Given the description of an element on the screen output the (x, y) to click on. 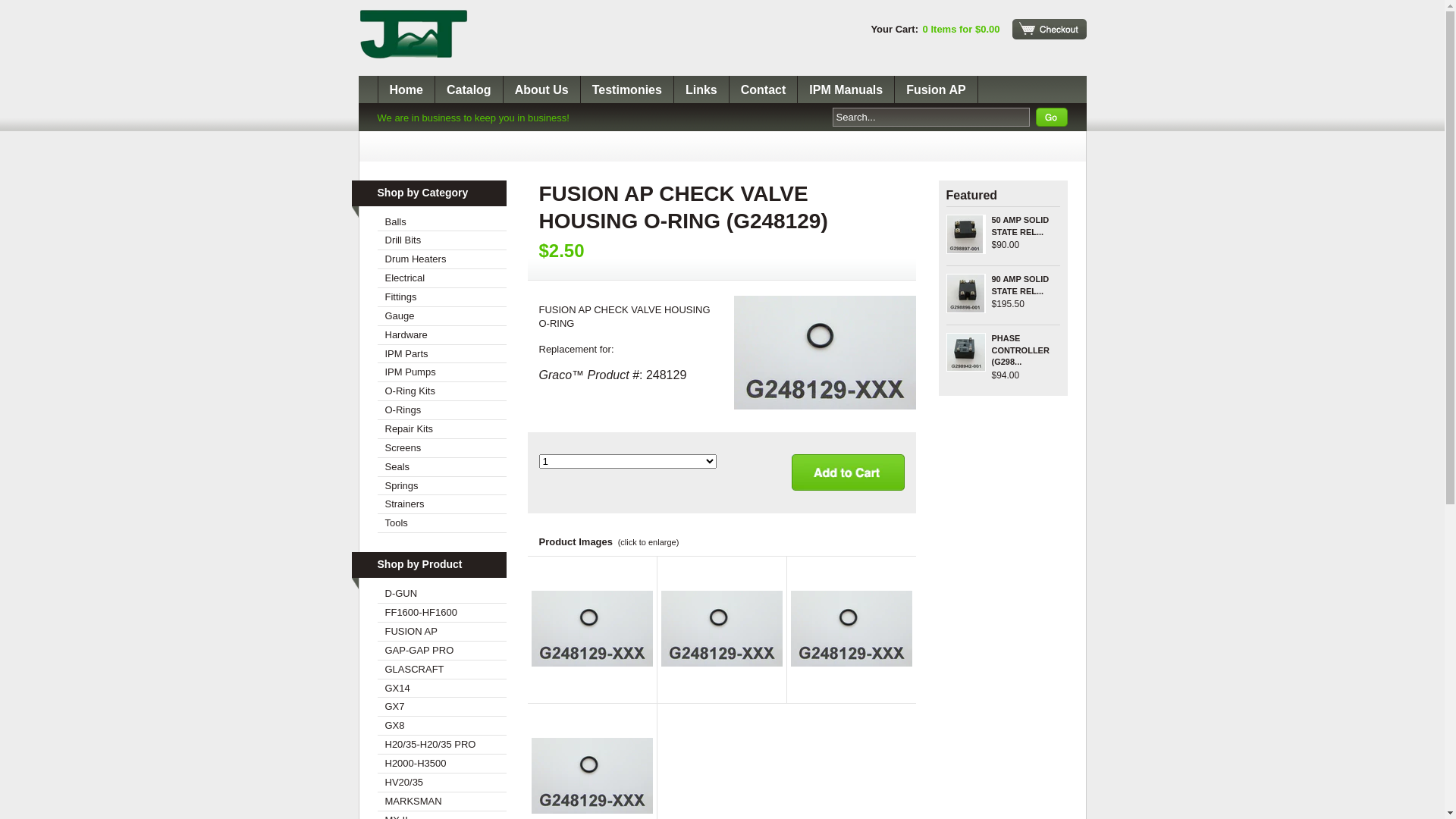
PHASE CONTROLLER (G298... Element type: text (1020, 349)
Springs Element type: text (441, 485)
Links Element type: text (701, 89)
90 AMP SOLID STATE REL... Element type: text (1020, 284)
H2000-H3500 Element type: text (441, 763)
D-GUN Element type: text (441, 593)
GAP-GAP PRO Element type: text (441, 650)
Checkout Element type: text (1048, 28)
HV20/35 Element type: text (441, 782)
Balls Element type: text (441, 222)
IPM Manuals Element type: text (845, 89)
Testimonies Element type: text (627, 89)
FUSION AP Element type: text (441, 631)
Seals Element type: text (441, 467)
0 Items for $0.00 Element type: text (961, 28)
GX14 Element type: text (441, 688)
FF1600-HF1600 Element type: text (441, 612)
Gauge Element type: text (441, 316)
Tools Element type: text (441, 523)
50 AMP SOLID STATE REL... Element type: text (1020, 225)
O-Ring Kits Element type: text (441, 391)
GX7 Element type: text (441, 706)
Hardware Element type: text (441, 335)
IPM Parts Element type: text (441, 354)
Fittings Element type: text (441, 297)
IPM Pumps Element type: text (441, 372)
Drill Bits Element type: text (441, 240)
GLASCRAFT Element type: text (441, 669)
O-Rings Element type: text (441, 410)
Home Element type: text (405, 89)
Drum Heaters Element type: text (441, 259)
H20/35-H20/35 PRO Element type: text (441, 744)
Catalog Element type: text (469, 89)
Strainers Element type: text (441, 504)
Contact Element type: text (763, 89)
Fusion AP Element type: text (936, 89)
Repair Kits Element type: text (441, 429)
MARKSMAN Element type: text (441, 801)
GX8 Element type: text (441, 725)
About Us Element type: text (541, 89)
Electrical Element type: text (441, 278)
Screens Element type: text (441, 448)
